Given the description of an element on the screen output the (x, y) to click on. 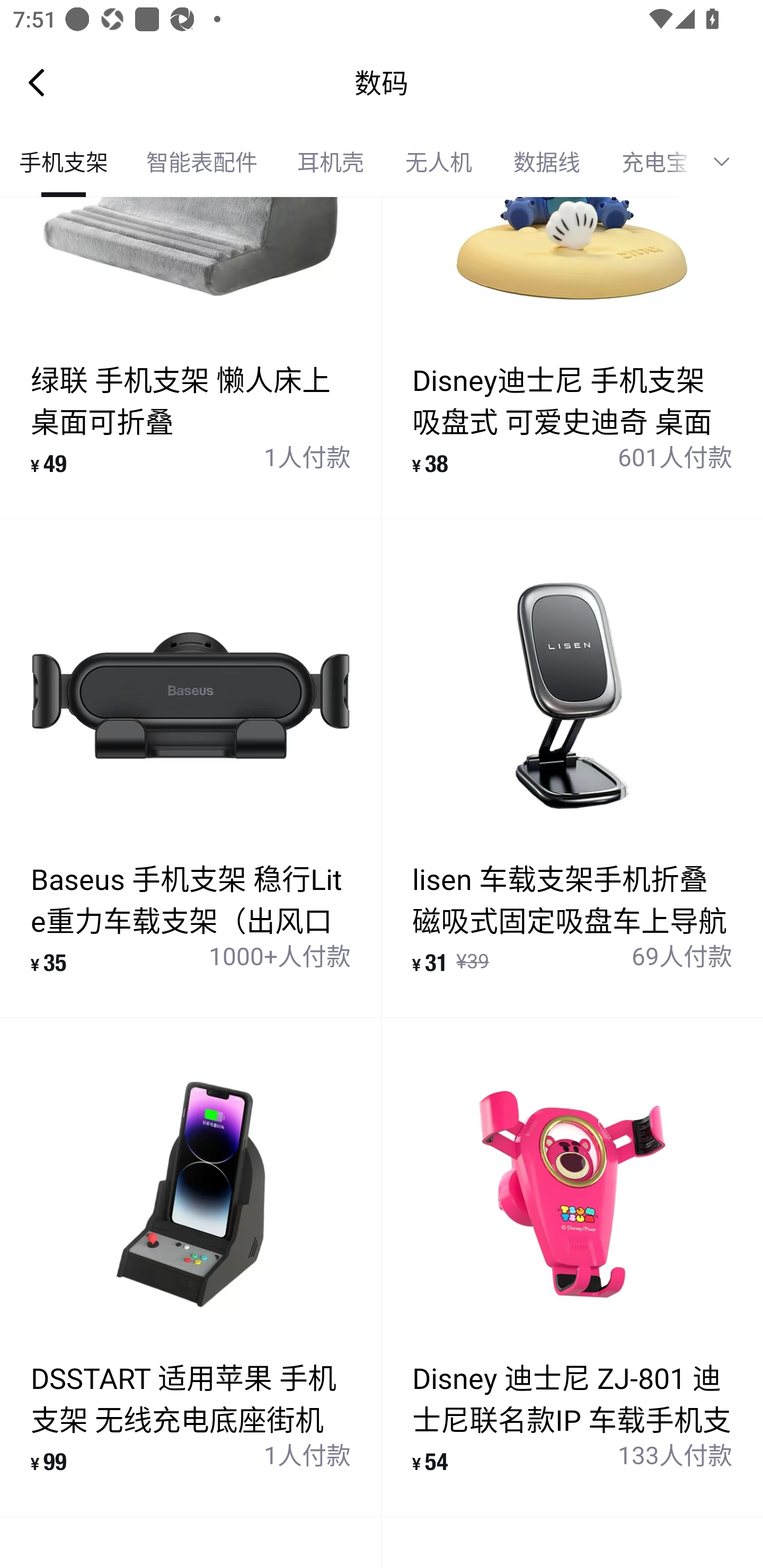
Navigate up (36, 82)
手机支架 (63, 162)
智能表配件 (201, 162)
耳机壳 (330, 162)
无人机 (438, 162)
数据线 (546, 162)
充电宝 (646, 162)
 (727, 162)
绿联 手机支架 懒人床上
桌面可折叠 ¥ 49 1人付款 (190, 357)
lisen 车载支架手机折叠
磁吸式固定吸盘车上导航
专用车内用 ¥ 31 ¥39 69人付款 (572, 768)
DSSTART 适用苹果 手机
支架 无线充电底座街机
款 ¥ 99 1人付款 (190, 1266)
